Given the description of an element on the screen output the (x, y) to click on. 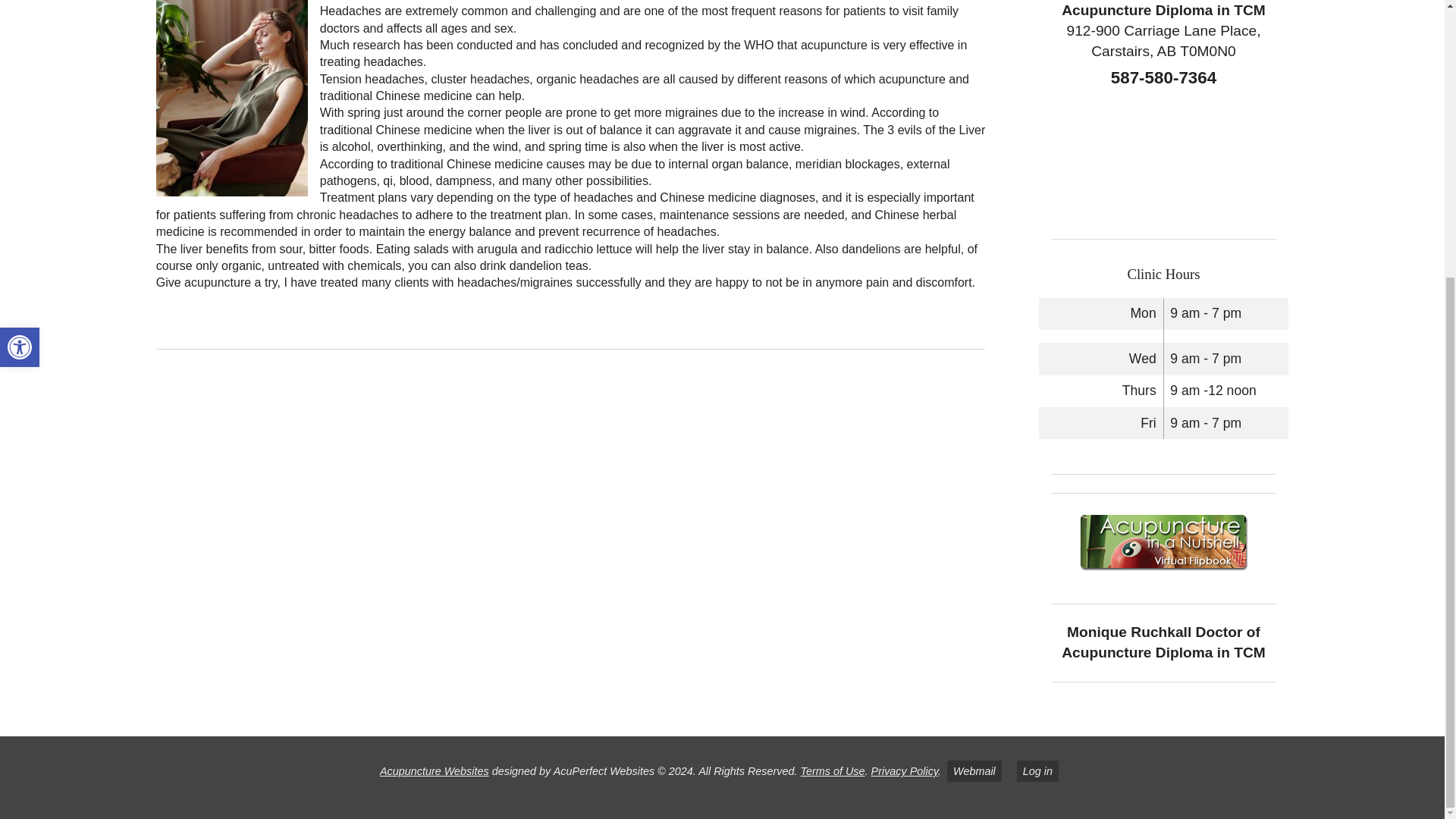
Terms of Use (832, 770)
Acupuncture Websites (434, 770)
Acupuncture Websites (434, 770)
Log in (1037, 771)
Google Map of Business (1152, 159)
Privacy Policy (904, 770)
Webmail (974, 771)
